Given the description of an element on the screen output the (x, y) to click on. 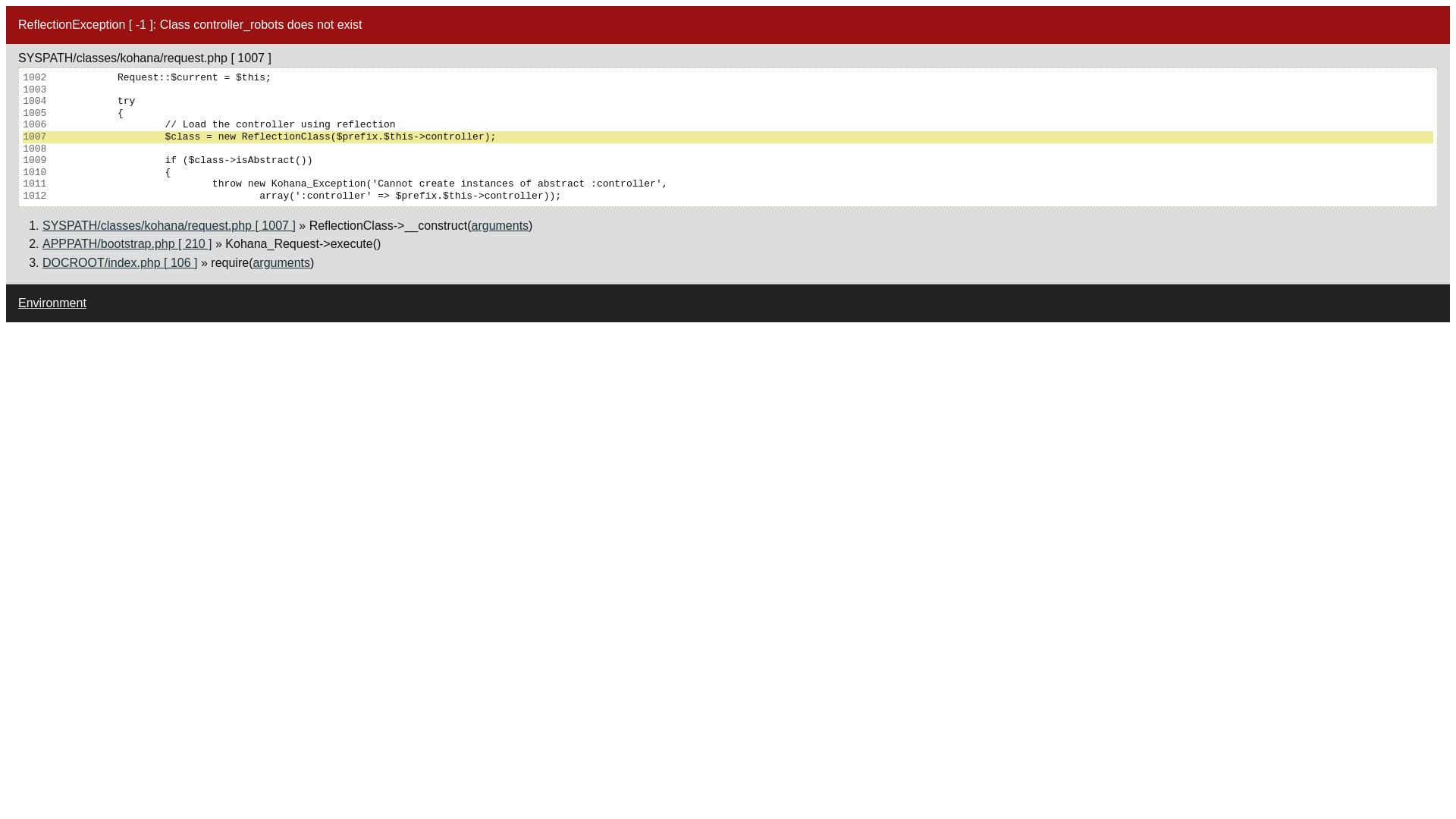
APPPATH/bootstrap.php [ 210 ] Element type: text (127, 243)
Environment Element type: text (52, 302)
DOCROOT/index.php [ 106 ] Element type: text (119, 262)
arguments Element type: text (281, 262)
SYSPATH/classes/kohana/request.php [ 1007 ] Element type: text (168, 225)
arguments Element type: text (500, 225)
